Given the description of an element on the screen output the (x, y) to click on. 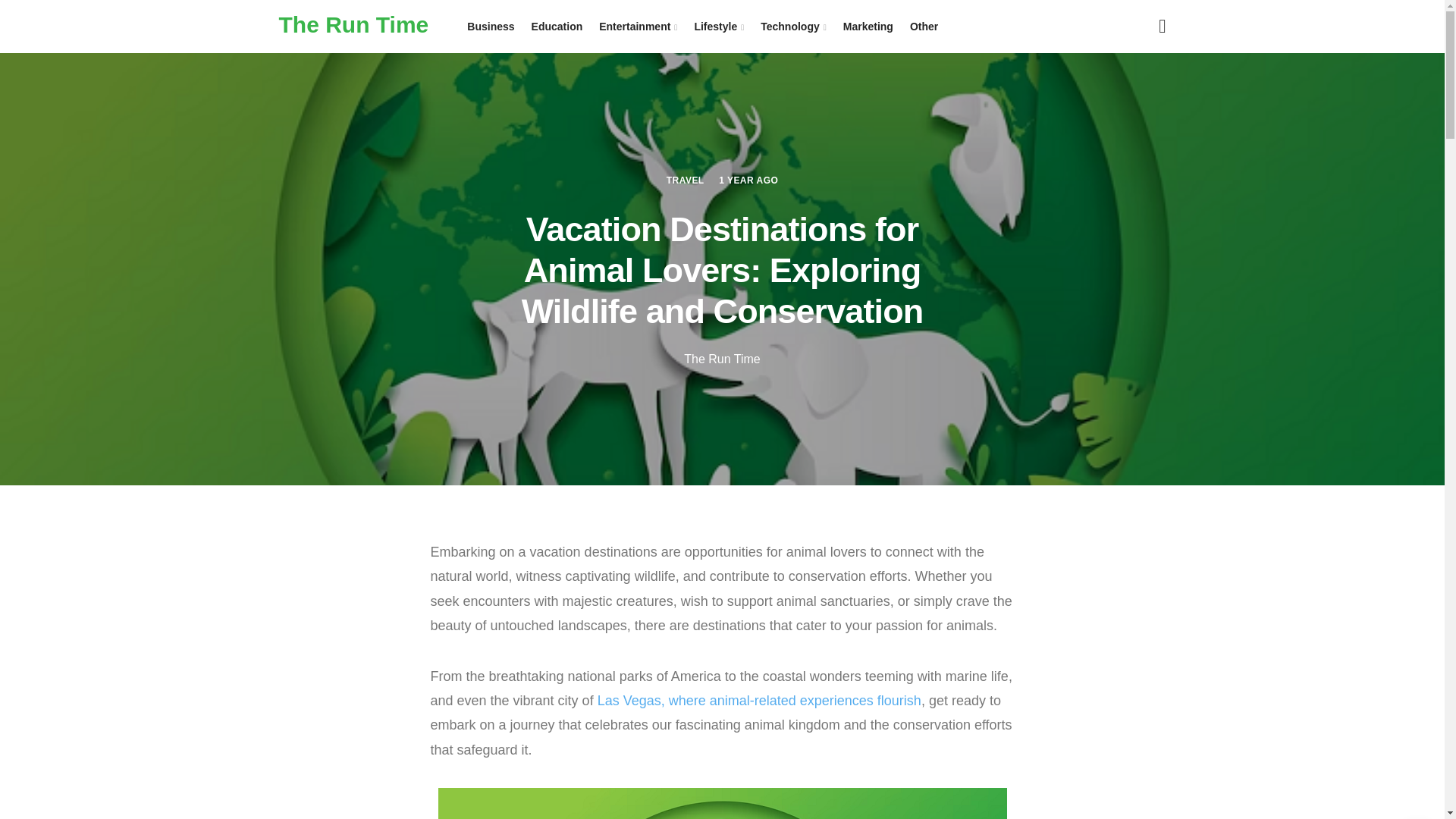
Business (490, 26)
TRAVEL (685, 179)
Technology (793, 26)
The Run Time (354, 24)
The Run Time (722, 358)
Education (556, 26)
Las Vegas, where animal-related experiences flourish (758, 700)
Lifestyle (718, 26)
Entertainment (638, 26)
Marketing (867, 26)
Other (923, 26)
